Given the description of an element on the screen output the (x, y) to click on. 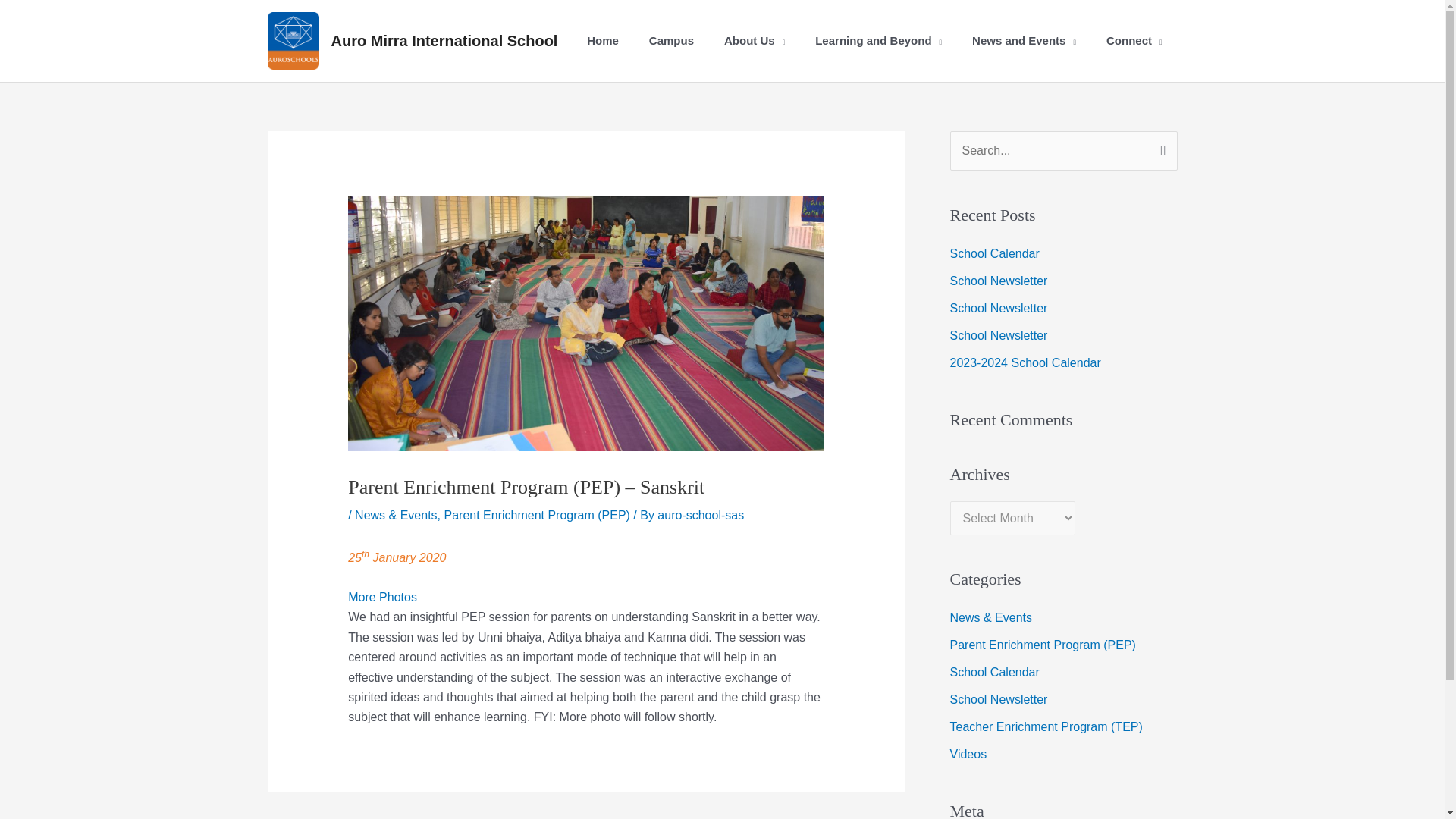
News and Events (1023, 40)
Campus (671, 40)
More Photos (381, 596)
View all posts by auro-school-sas (701, 514)
Search (1159, 146)
Search (1159, 146)
Learning and Beyond (877, 40)
About Us (754, 40)
Auro Mirra International School (443, 40)
